Given the description of an element on the screen output the (x, y) to click on. 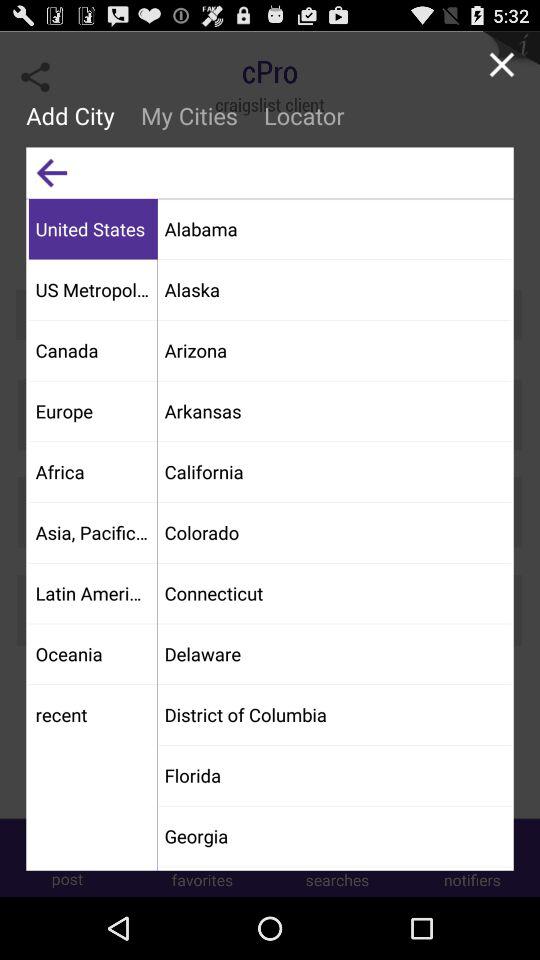
turn on the united states app (92, 228)
